Given the description of an element on the screen output the (x, y) to click on. 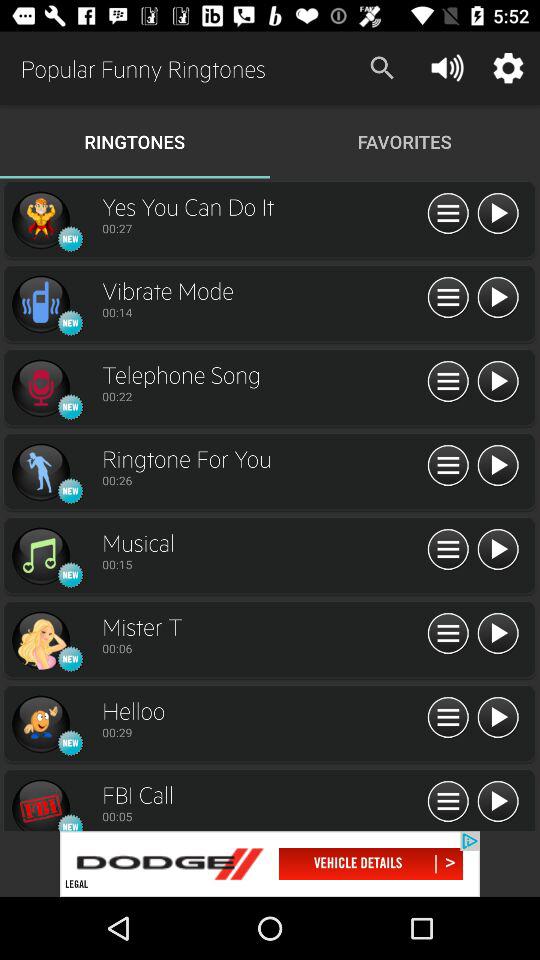
listen vibrate mode (497, 297)
